Given the description of an element on the screen output the (x, y) to click on. 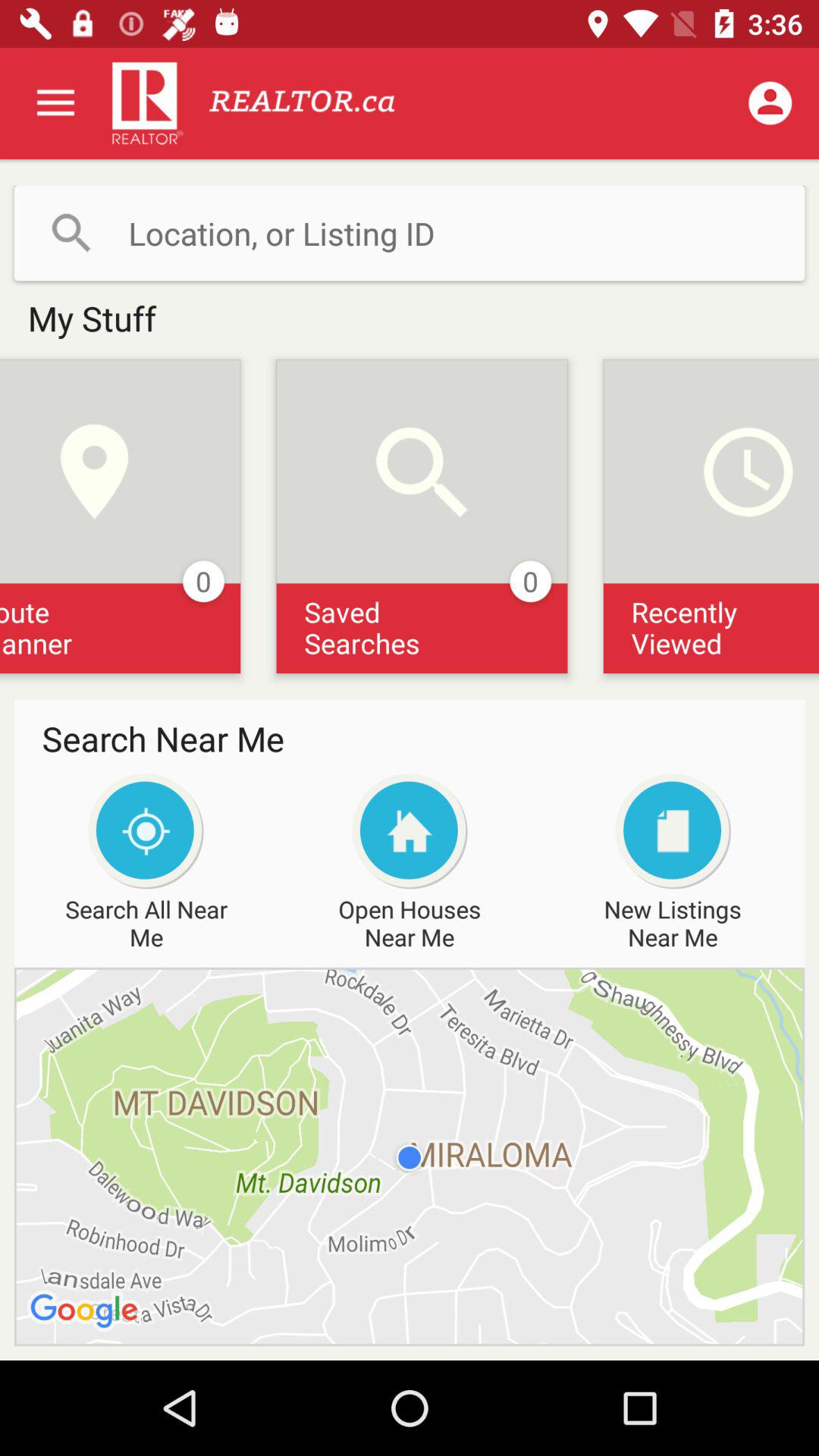
location entry button (409, 232)
